Given the description of an element on the screen output the (x, y) to click on. 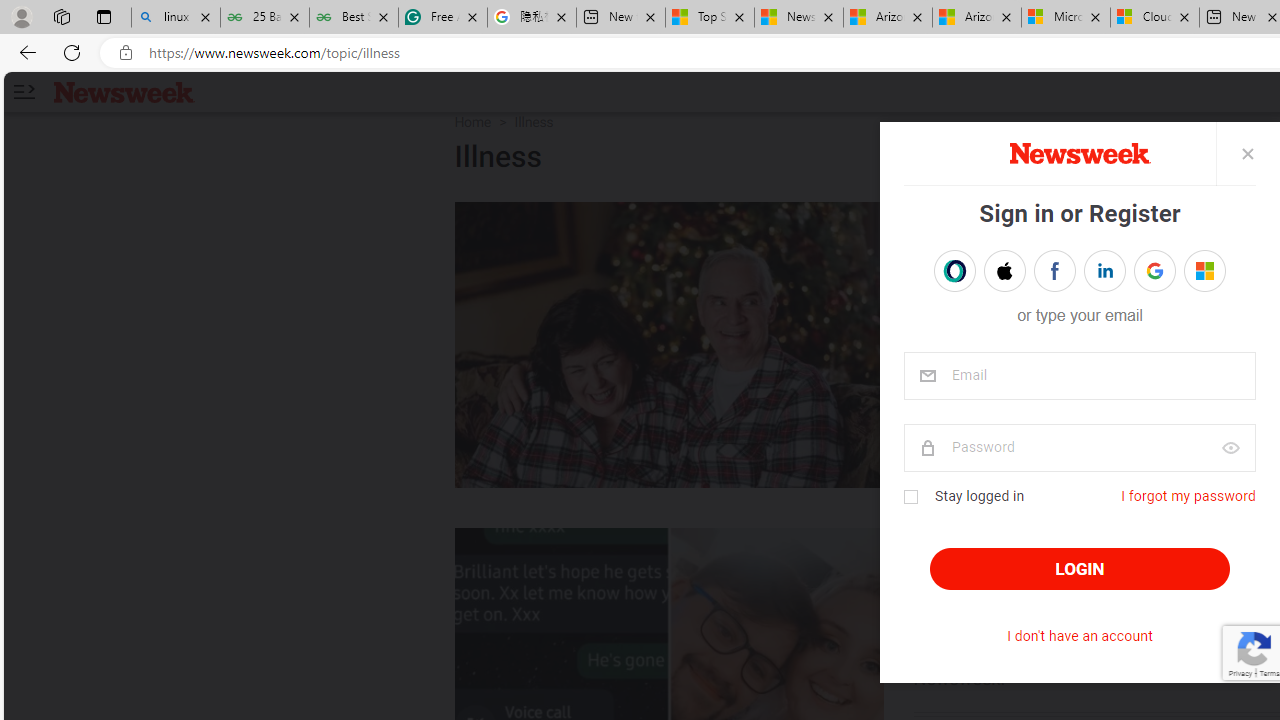
Microsoft (1204, 270)
View site information (125, 53)
Class: checkbox (909, 497)
Sign in with LINKEDIN (1104, 270)
Home (472, 121)
MY TURN (963, 222)
To get missing image descriptions, open the context menu. (1078, 153)
Sign in with FACEBOOK (1054, 270)
Close (1247, 153)
Privacy (1240, 672)
News - MSN (799, 17)
Tab actions menu (104, 16)
